Given the description of an element on the screen output the (x, y) to click on. 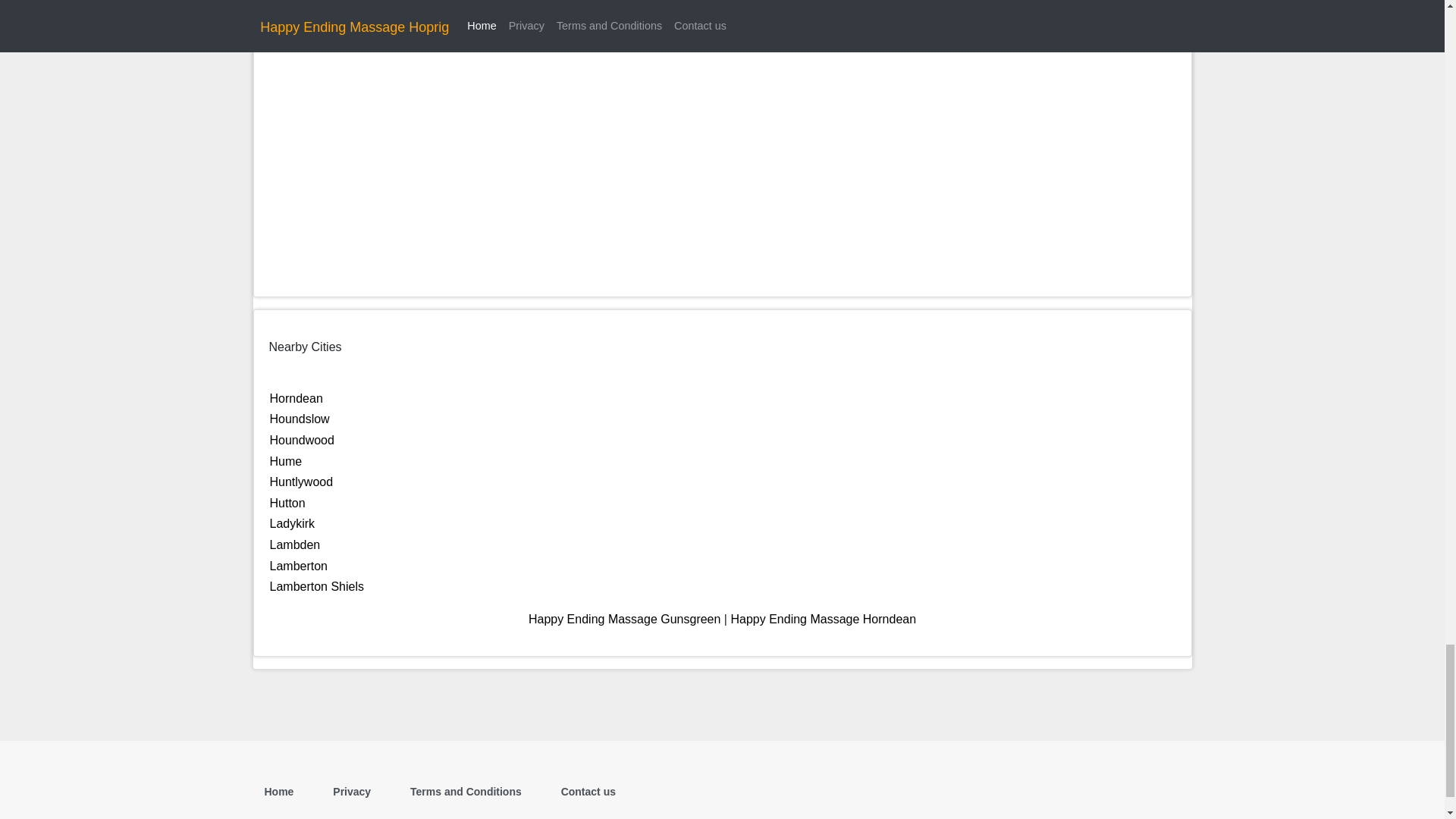
Lamberton (299, 565)
Huntlywood (301, 481)
Happy Ending Massage Gunsgreen (624, 618)
Houndwood (301, 440)
Ladykirk (292, 522)
Houndslow (299, 418)
Lamberton Shiels (317, 585)
Lambden (294, 544)
Horndean (296, 398)
Hutton (287, 502)
